Given the description of an element on the screen output the (x, y) to click on. 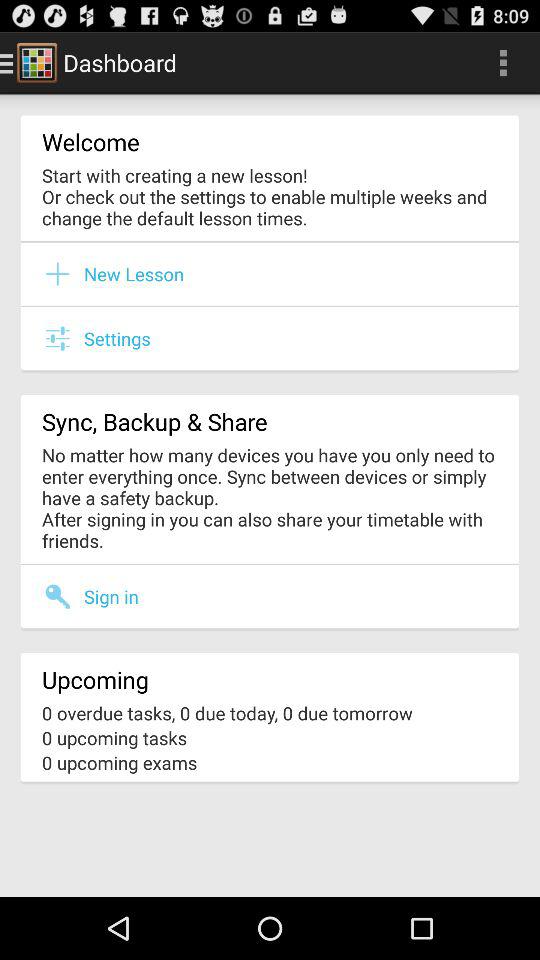
flip to the no matter how (269, 497)
